Given the description of an element on the screen output the (x, y) to click on. 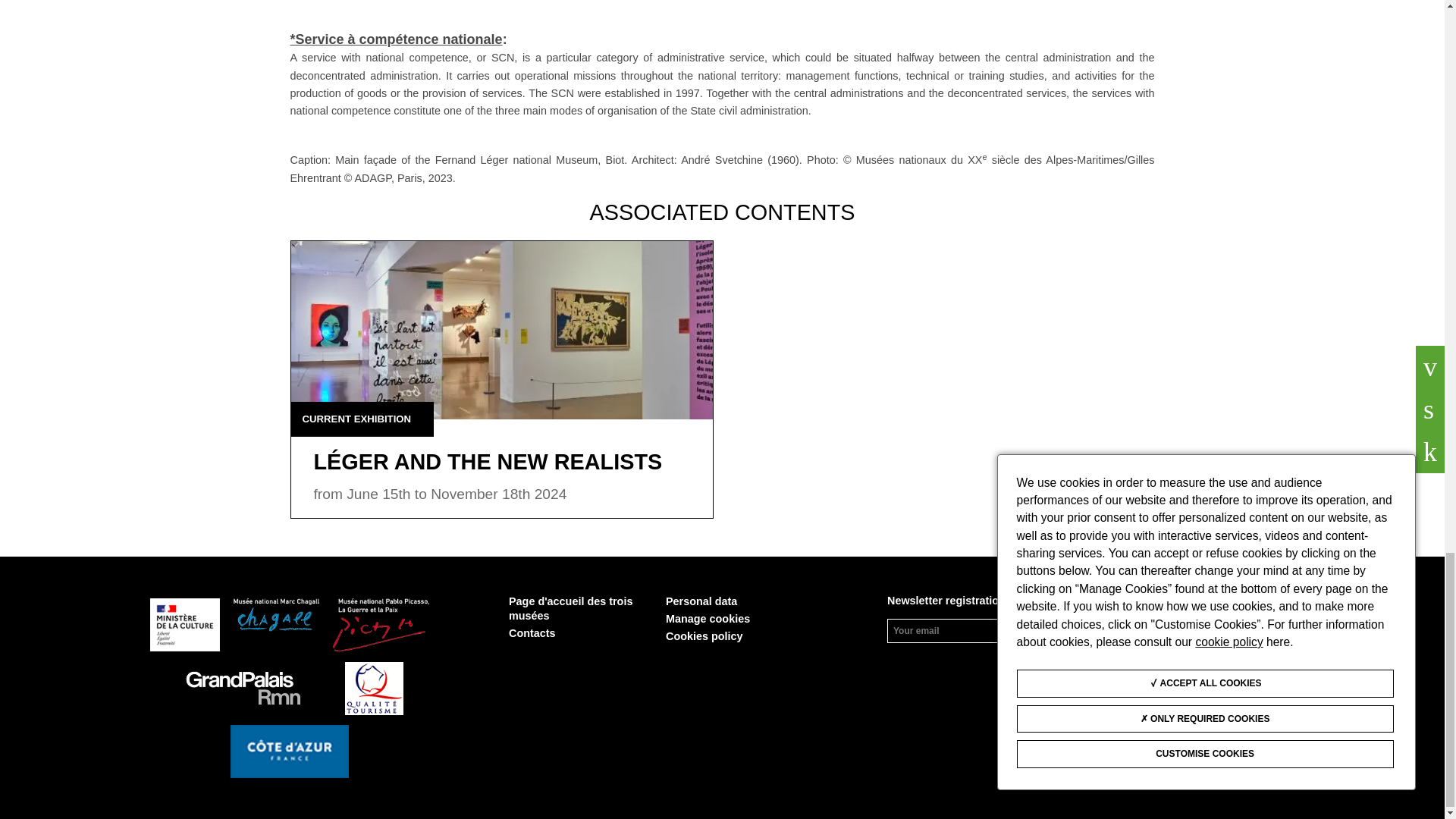
OK (1086, 630)
